Given the description of an element on the screen output the (x, y) to click on. 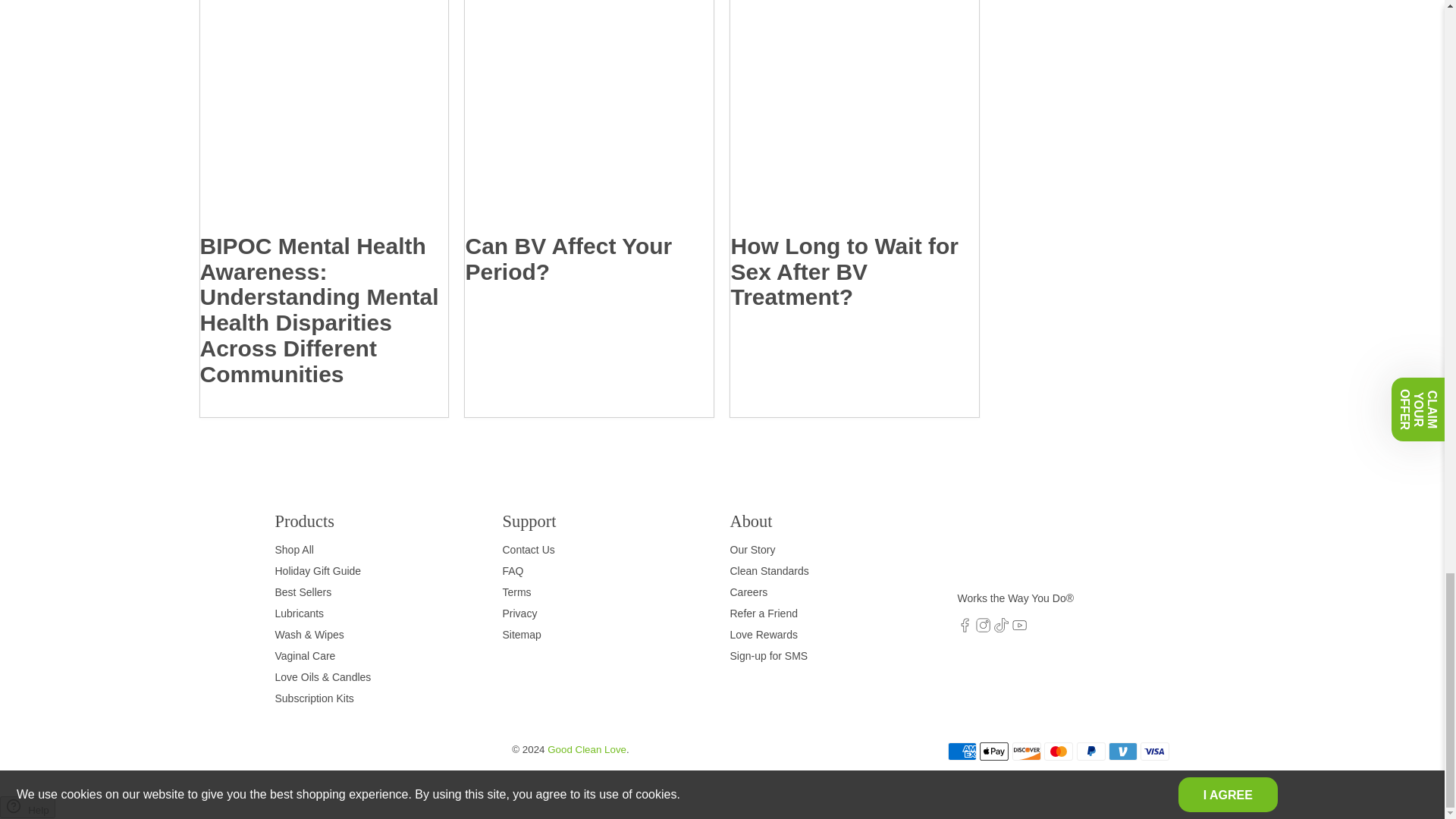
Venmo (1122, 751)
How Long to Wait for Sex After BV Treatment? (844, 271)
Visa (1154, 751)
Can BV Affect Your Period? (588, 116)
Can BV Affect Your Period? (567, 258)
Good Clean Love (1020, 549)
Discover (1026, 751)
How Long to Wait for Sex After BV Treatment? (854, 116)
Mastercard (1058, 751)
American Express (961, 751)
PayPal (1091, 751)
Apple Pay (994, 751)
